Given the description of an element on the screen output the (x, y) to click on. 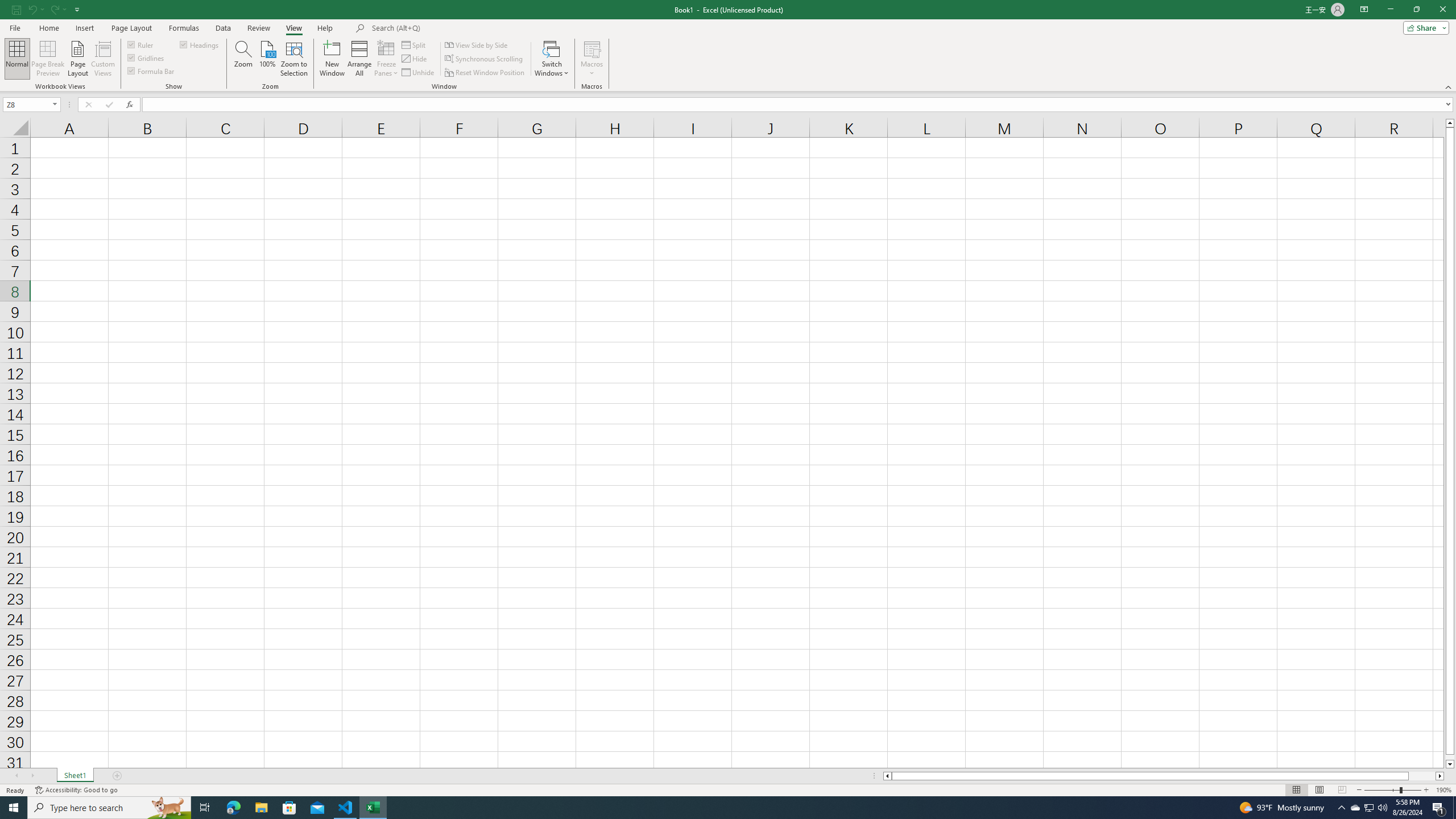
Macros (591, 58)
Reset Window Position (485, 72)
Zoom... (242, 58)
View Side by Side (476, 44)
Formula Bar (151, 69)
